Given the description of an element on the screen output the (x, y) to click on. 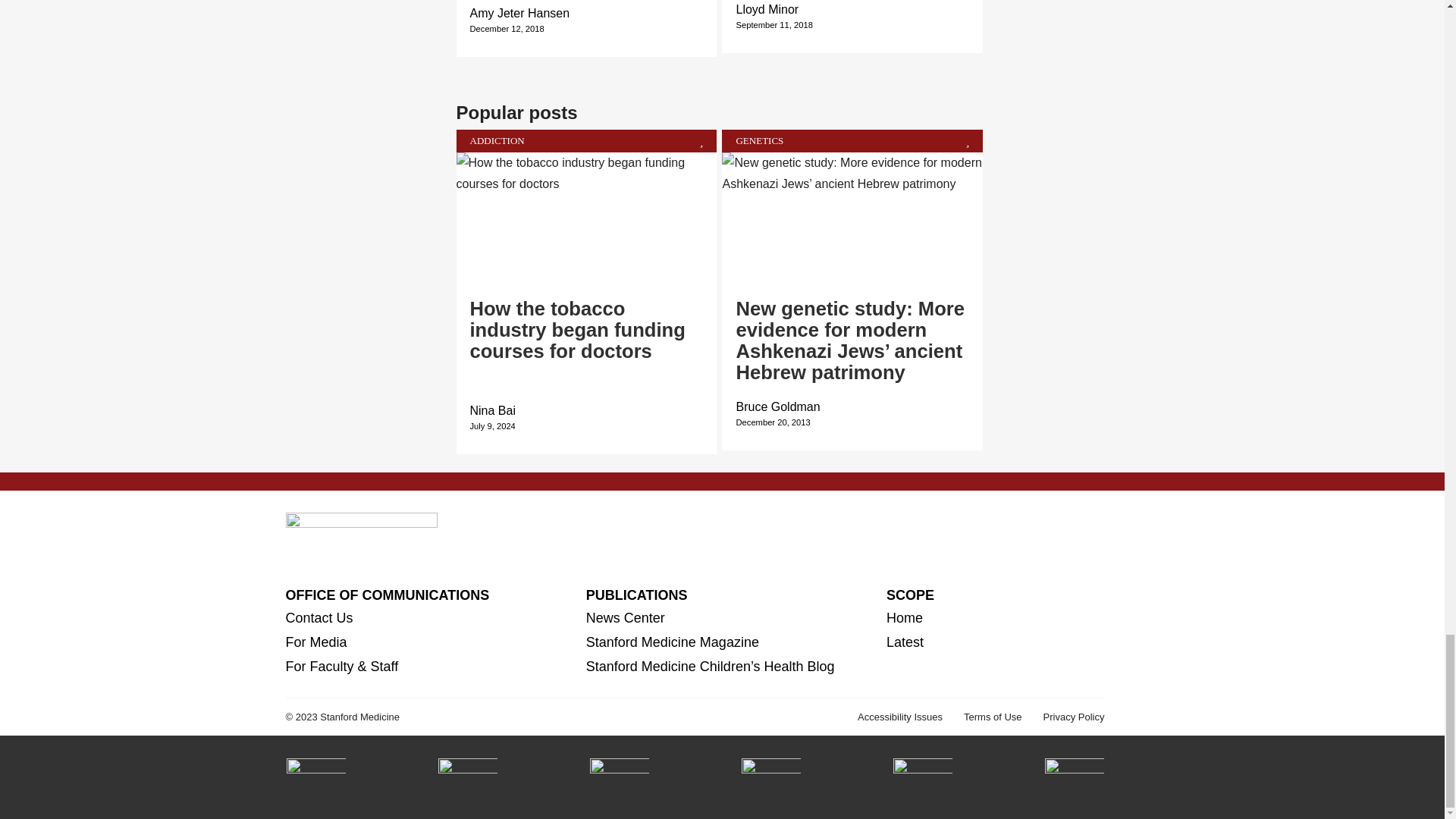
Amy Jeter Hansen (520, 12)
